Given the description of an element on the screen output the (x, y) to click on. 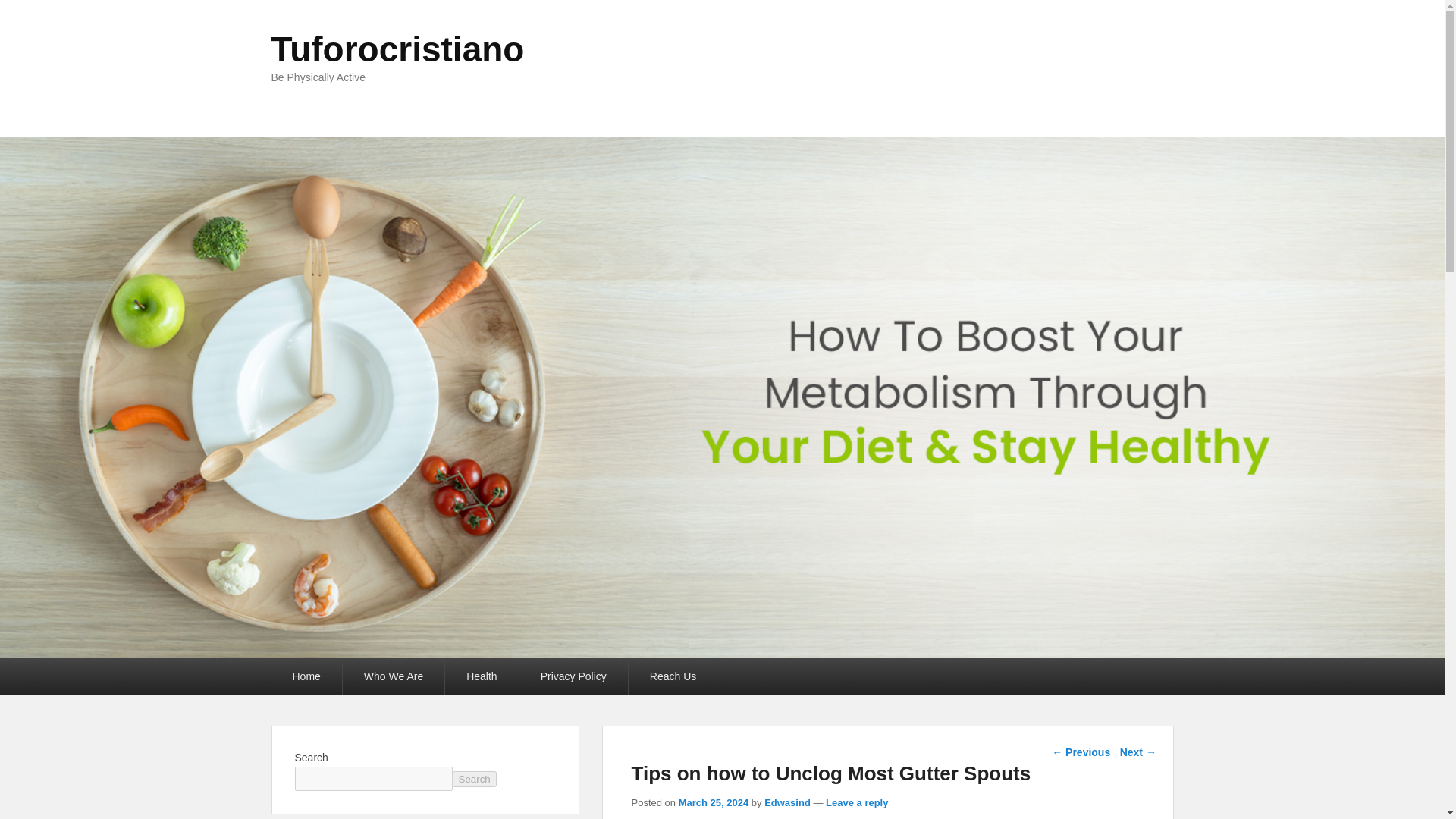
1:58 am (713, 802)
Health (481, 676)
Tuforocristiano (397, 48)
Search (473, 779)
Privacy Policy (573, 676)
Edwasind (787, 802)
Leave a reply (856, 802)
March 25, 2024 (713, 802)
Home (306, 676)
View all posts by Edwasind (787, 802)
